Given the description of an element on the screen output the (x, y) to click on. 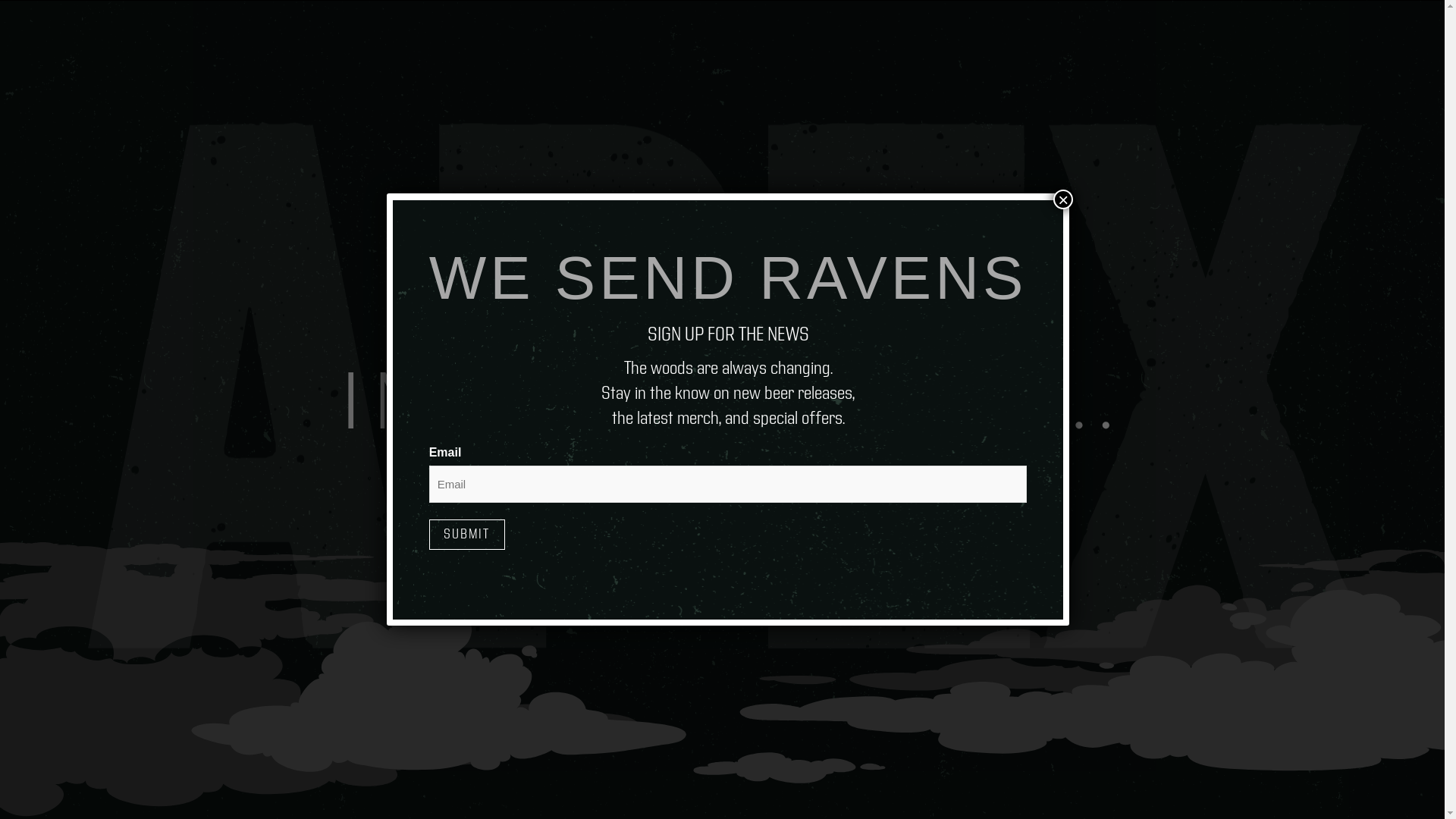
Submit Element type: text (467, 534)
